Given the description of an element on the screen output the (x, y) to click on. 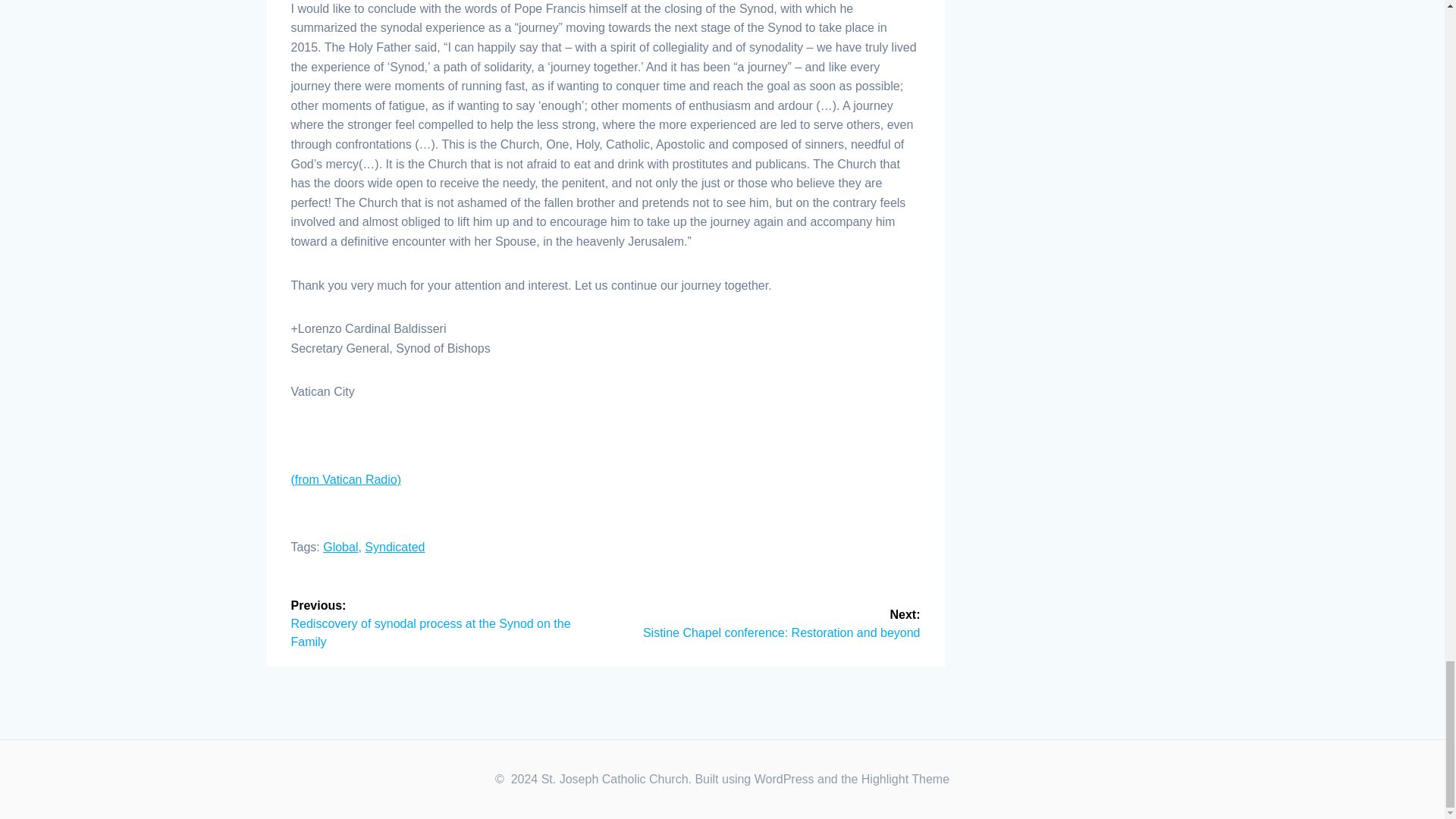
Syndicated (395, 546)
Global (340, 546)
